Given the description of an element on the screen output the (x, y) to click on. 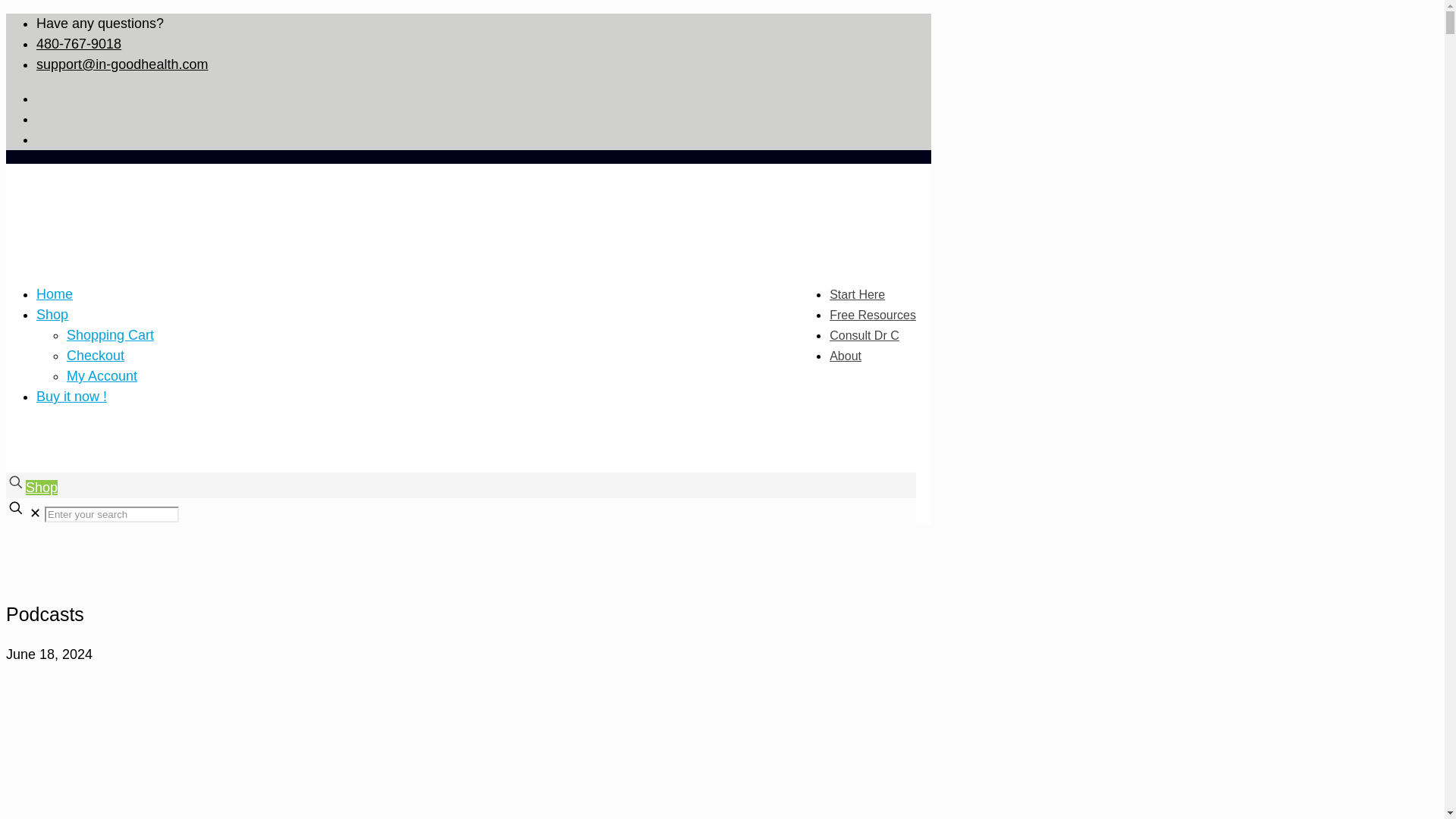
Home (54, 294)
Free Resources (872, 314)
Checkout (94, 355)
Start Here (857, 294)
480-767-9018 (78, 43)
Consult Dr C (864, 334)
Shopping Cart (110, 335)
My Account (101, 376)
Shop (52, 314)
About (845, 355)
Shop (42, 487)
Dr. Alan Christianson (460, 247)
Buy it now ! (71, 396)
